Given the description of an element on the screen output the (x, y) to click on. 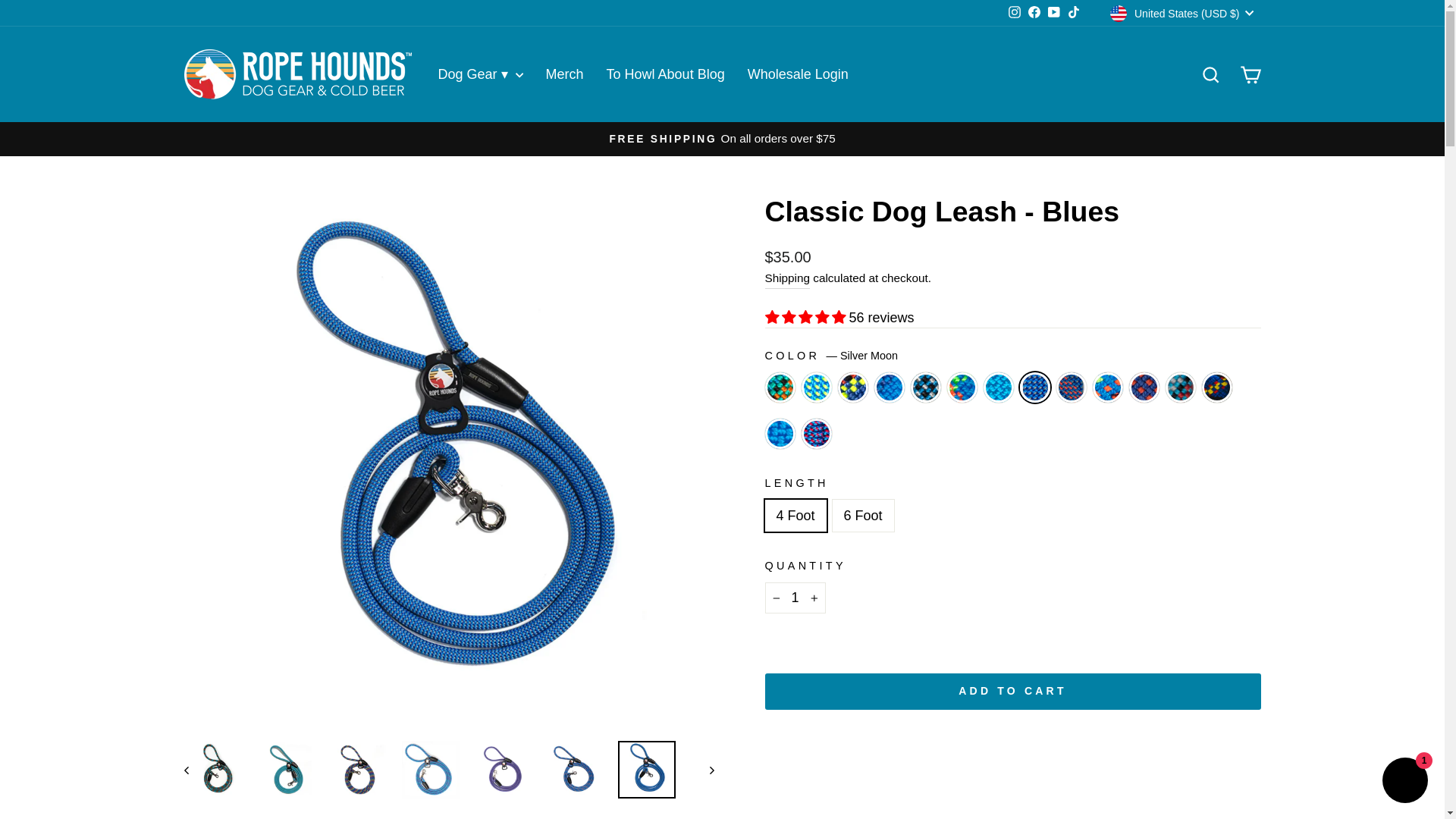
Shopify online store chat (1404, 781)
icon-search (1210, 74)
1 (794, 597)
